Given the description of an element on the screen output the (x, y) to click on. 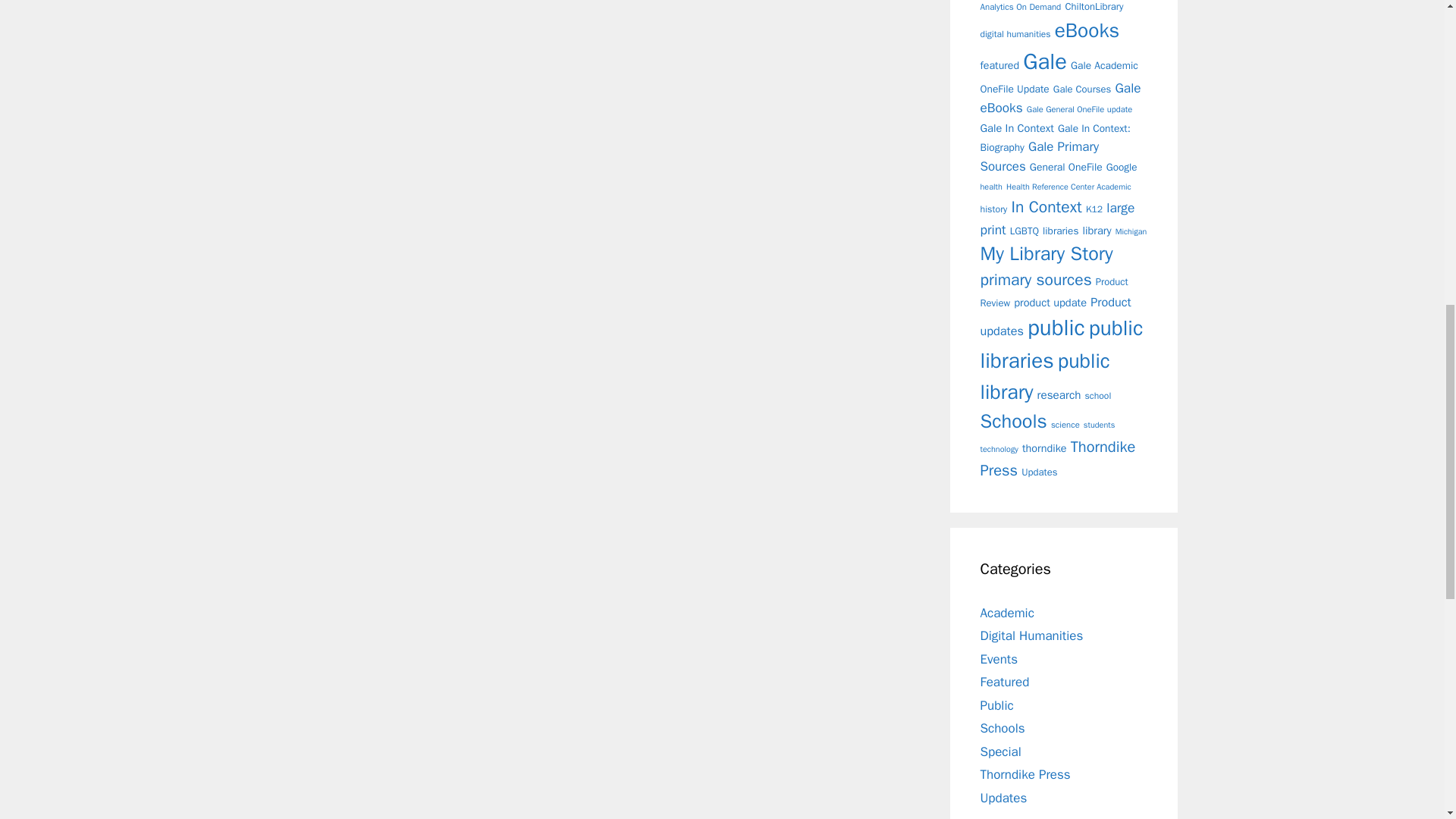
Scroll back to top (1406, 720)
Analytics On Demand (1020, 6)
